Given the description of an element on the screen output the (x, y) to click on. 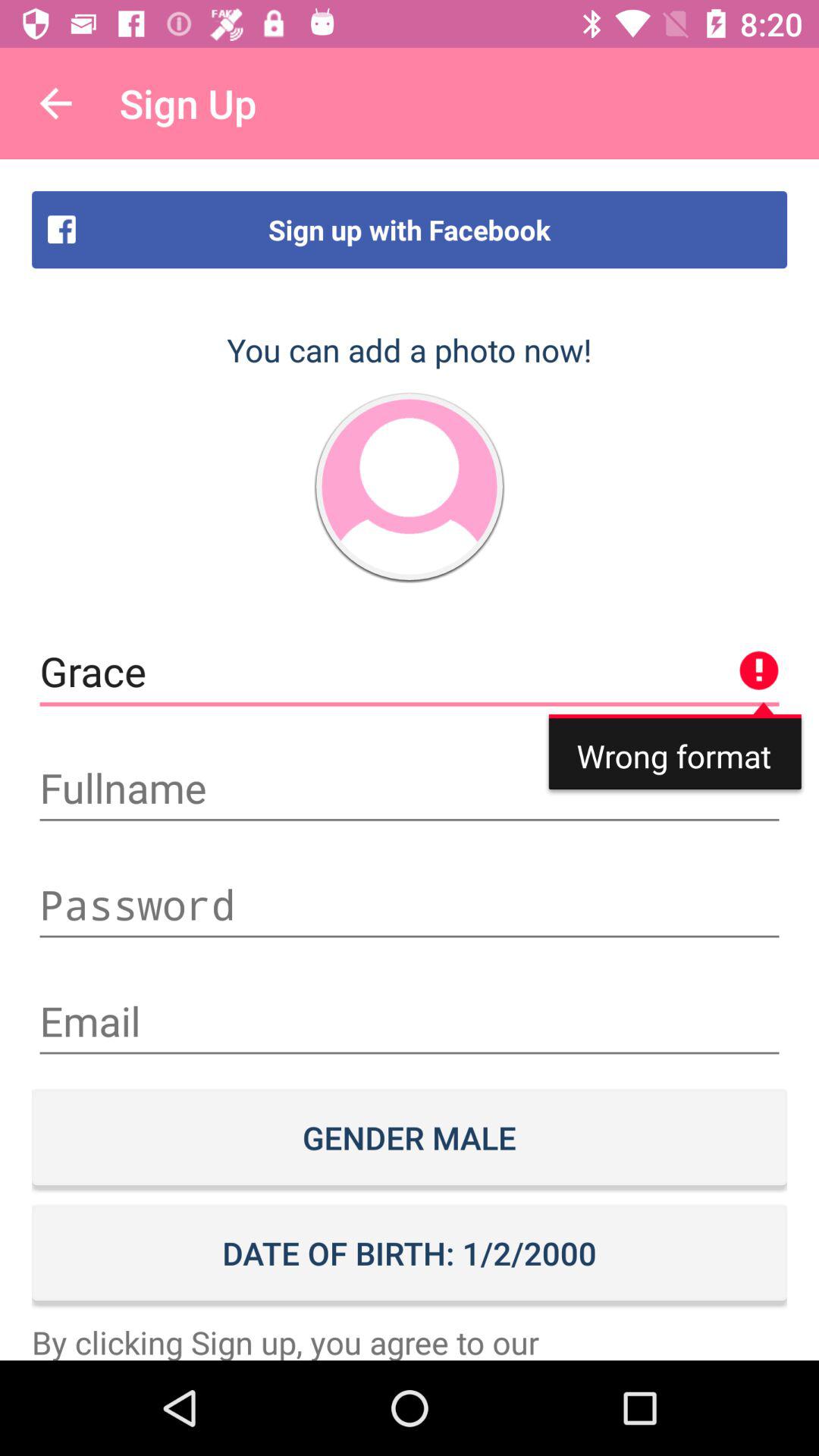
pass (409, 904)
